Given the description of an element on the screen output the (x, y) to click on. 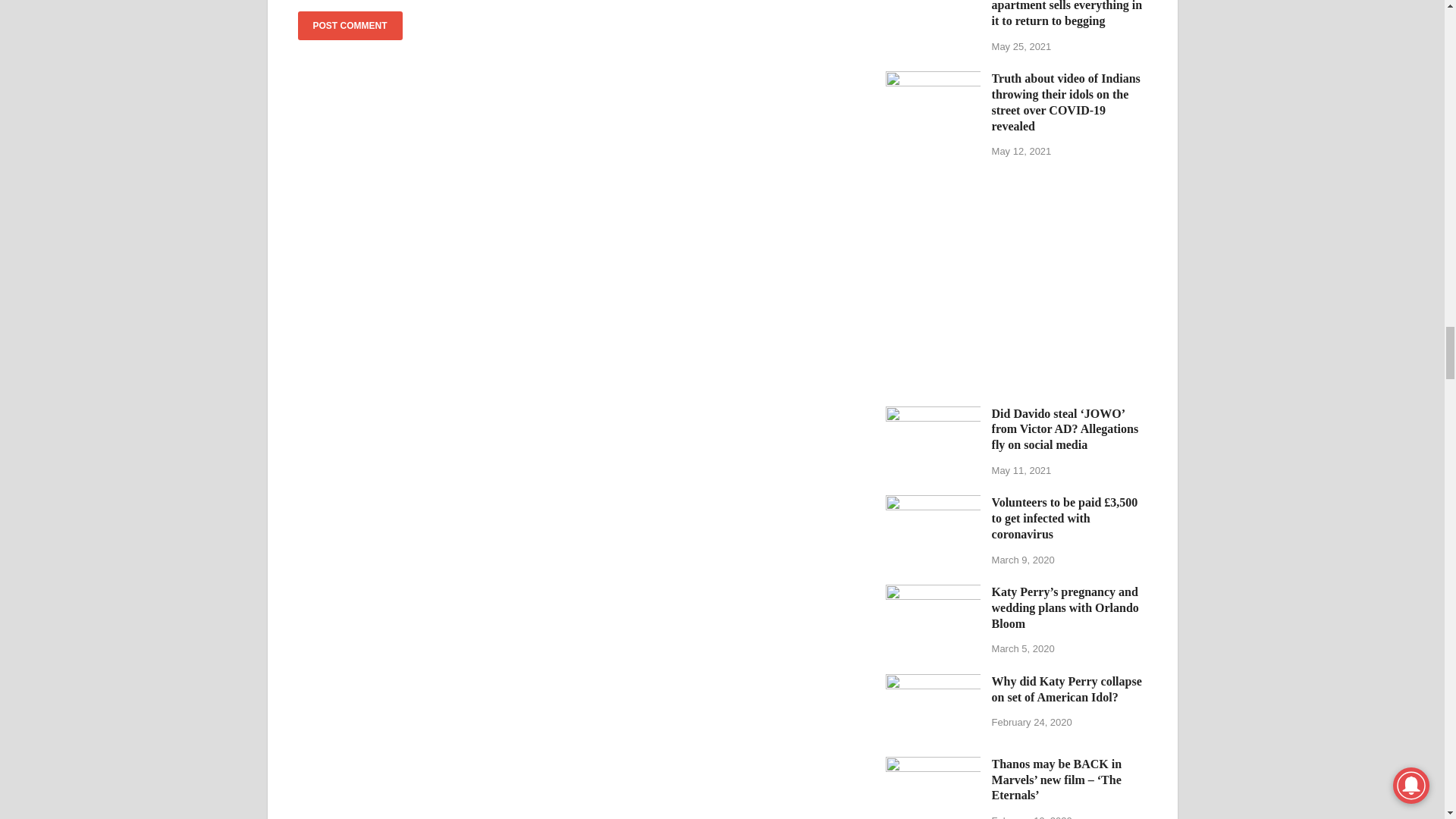
Post Comment (349, 25)
